Given the description of an element on the screen output the (x, y) to click on. 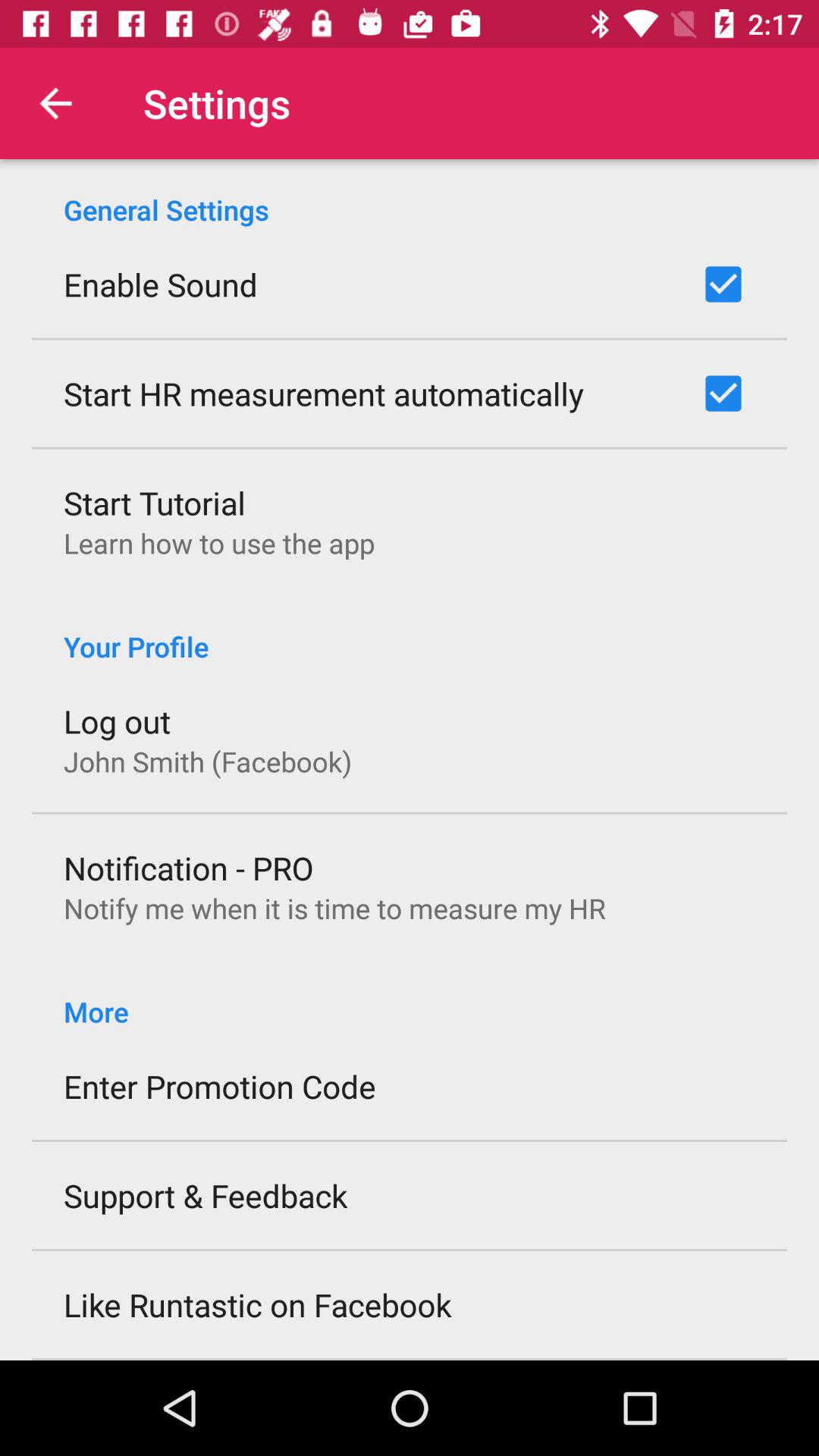
scroll until more item (409, 995)
